Given the description of an element on the screen output the (x, y) to click on. 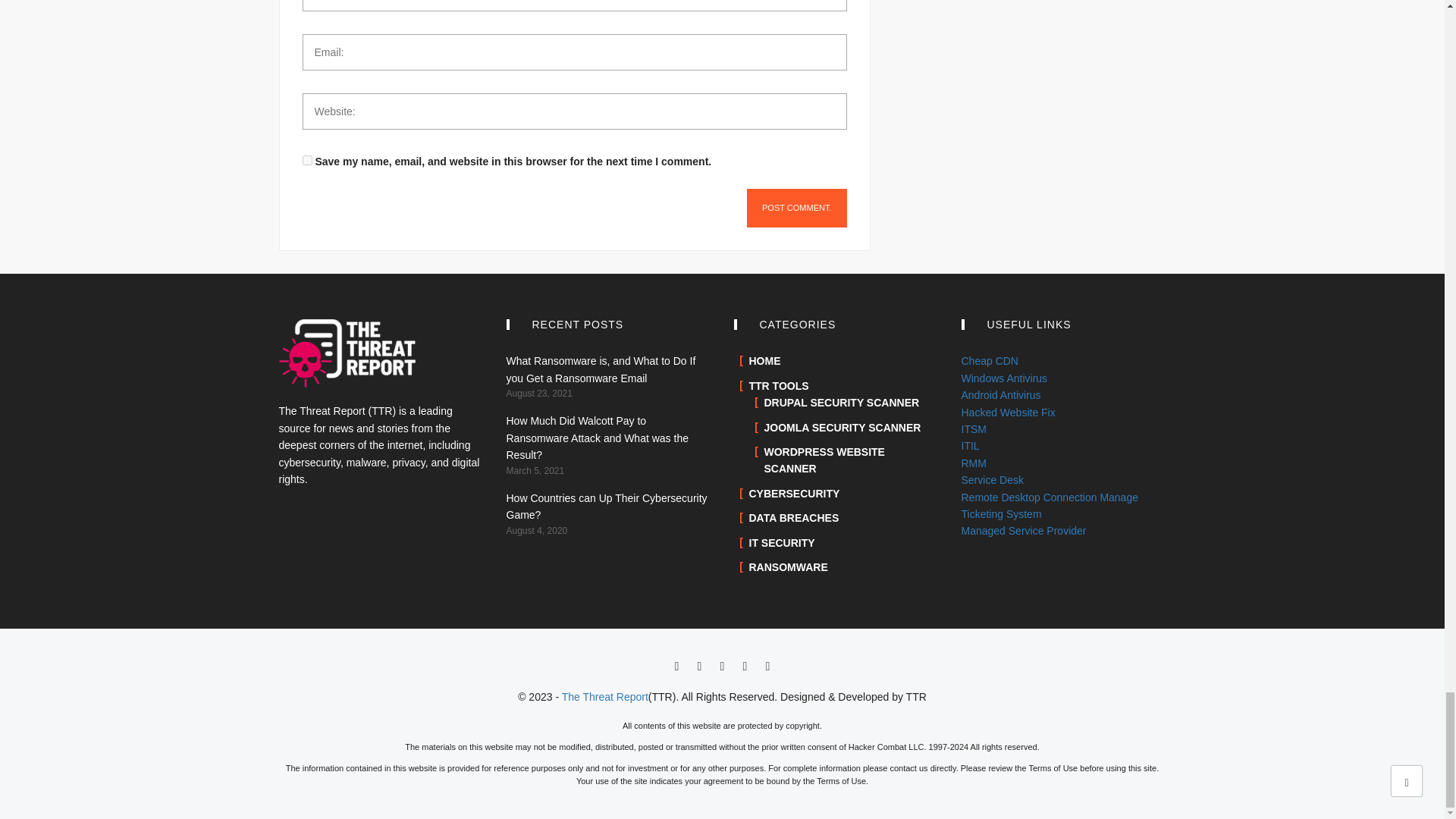
Post comment. (795, 208)
yes (306, 160)
